Given the description of an element on the screen output the (x, y) to click on. 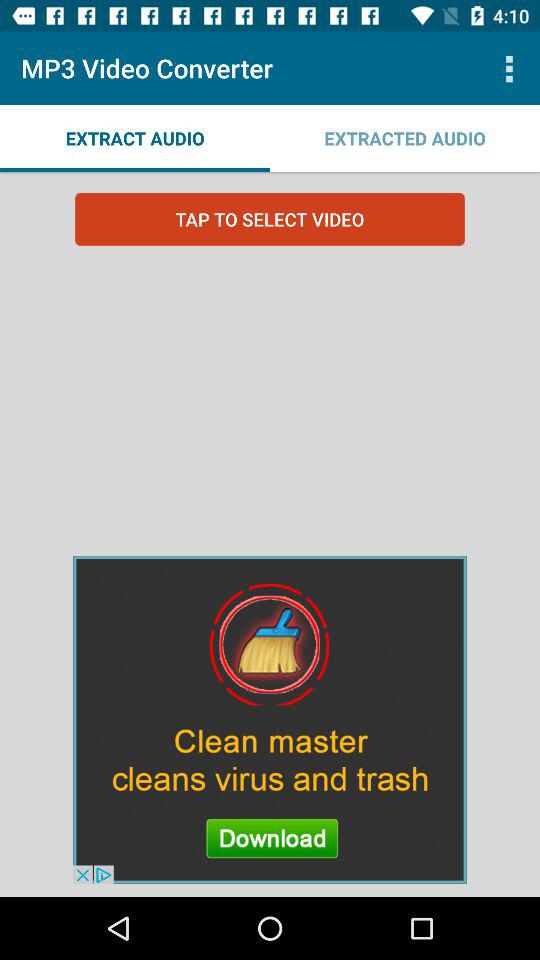
go to advertising site (269, 719)
